Given the description of an element on the screen output the (x, y) to click on. 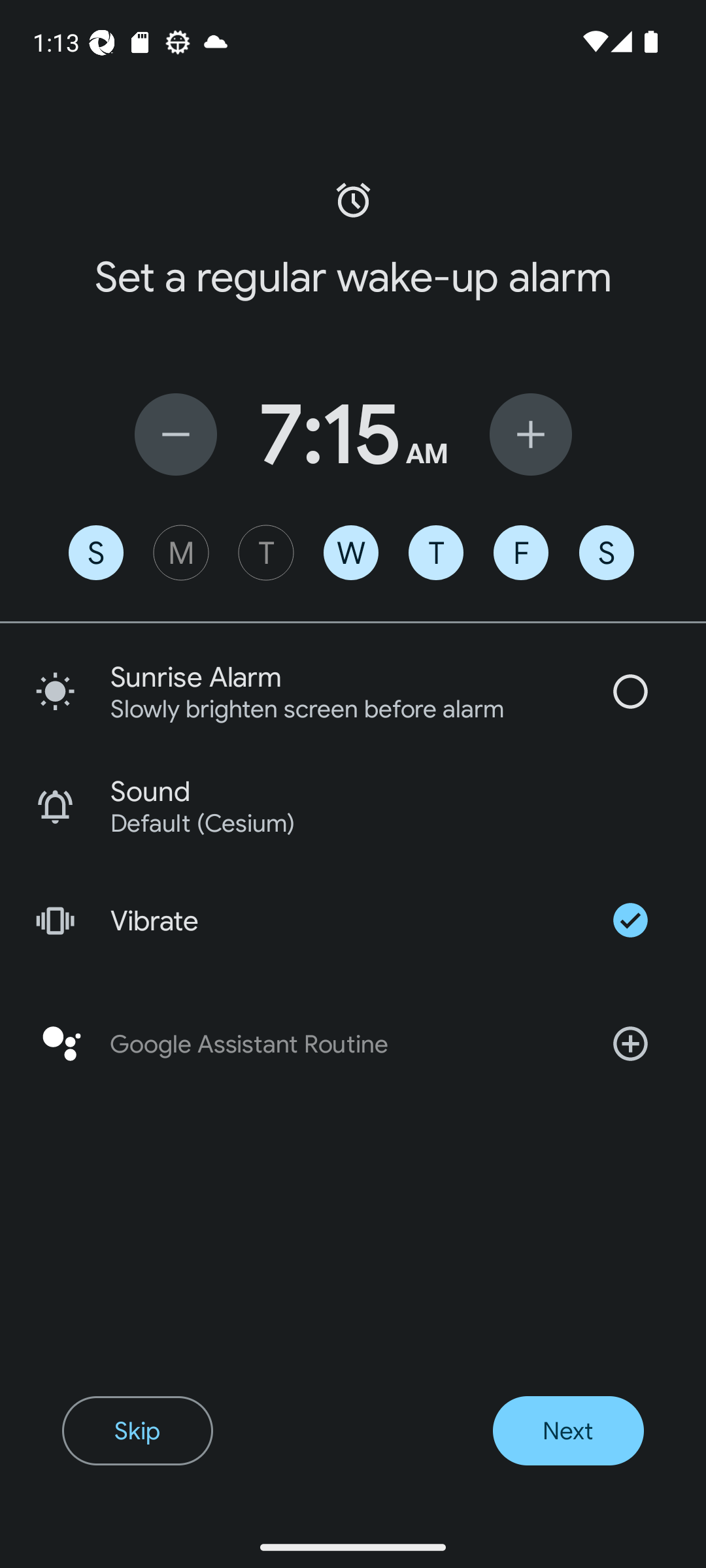
7:15 AM Wake-up 7:15 AM (353, 434)
Fifteen minutes earlier (175, 434)
Fifteen minutes later (530, 434)
S Sunday (95, 552)
M Monday (180, 552)
T Tuesday (266, 552)
W Wednesday (350, 552)
T Thursday (435, 552)
F Friday (520, 552)
S Saturday (606, 552)
Sunrise Alarm Slowly brighten screen before alarm (353, 691)
Sound Default (Cesium) Ringtone Default (Cesium) (353, 805)
Vibrate (353, 920)
Google Assistant Routine (353, 1044)
Skip (137, 1430)
Next (567, 1430)
